Given the description of an element on the screen output the (x, y) to click on. 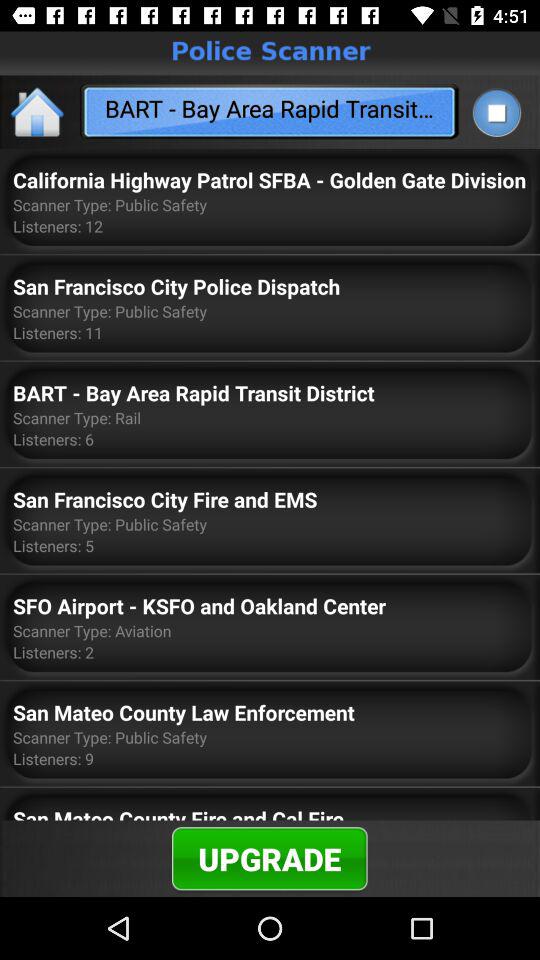
stop button (496, 111)
